Given the description of an element on the screen output the (x, y) to click on. 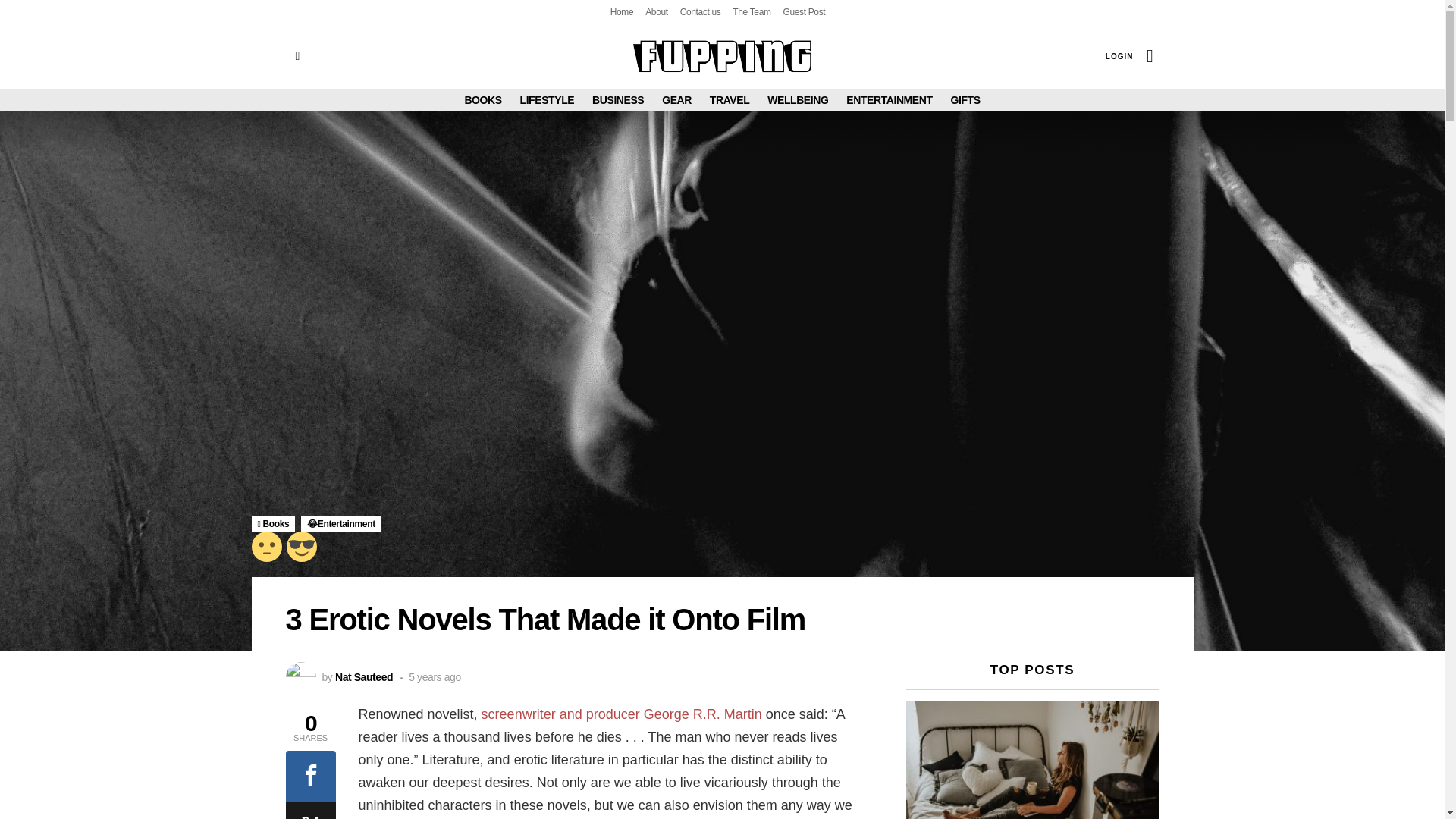
Menu (296, 55)
Nat Sauteed (363, 676)
About (656, 12)
GIFTS (964, 99)
Posts by Nat Sauteed (363, 676)
BOOKS (482, 99)
July 1, 2019, 8:44 pm (430, 676)
Contact us (699, 12)
WELLBEING (797, 99)
BUSINESS (617, 99)
TRAVEL (729, 99)
LIFESTYLE (547, 99)
screenwriter and producer George R.R. Martin (621, 713)
The Team (751, 12)
GEAR (675, 99)
